Given the description of an element on the screen output the (x, y) to click on. 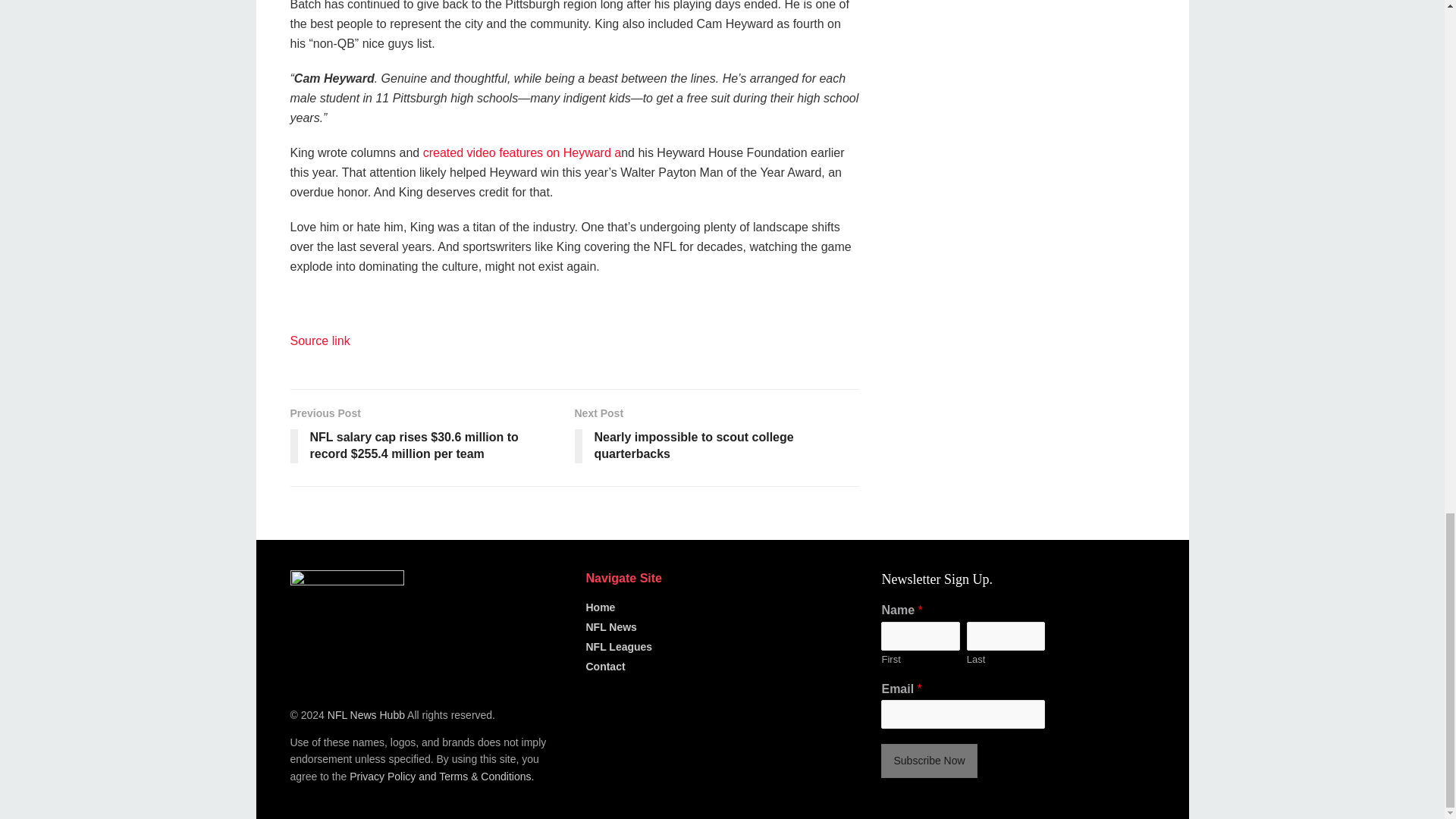
Source link (319, 340)
created video features on Heyward a (522, 152)
NFL-white (346, 626)
